Given the description of an element on the screen output the (x, y) to click on. 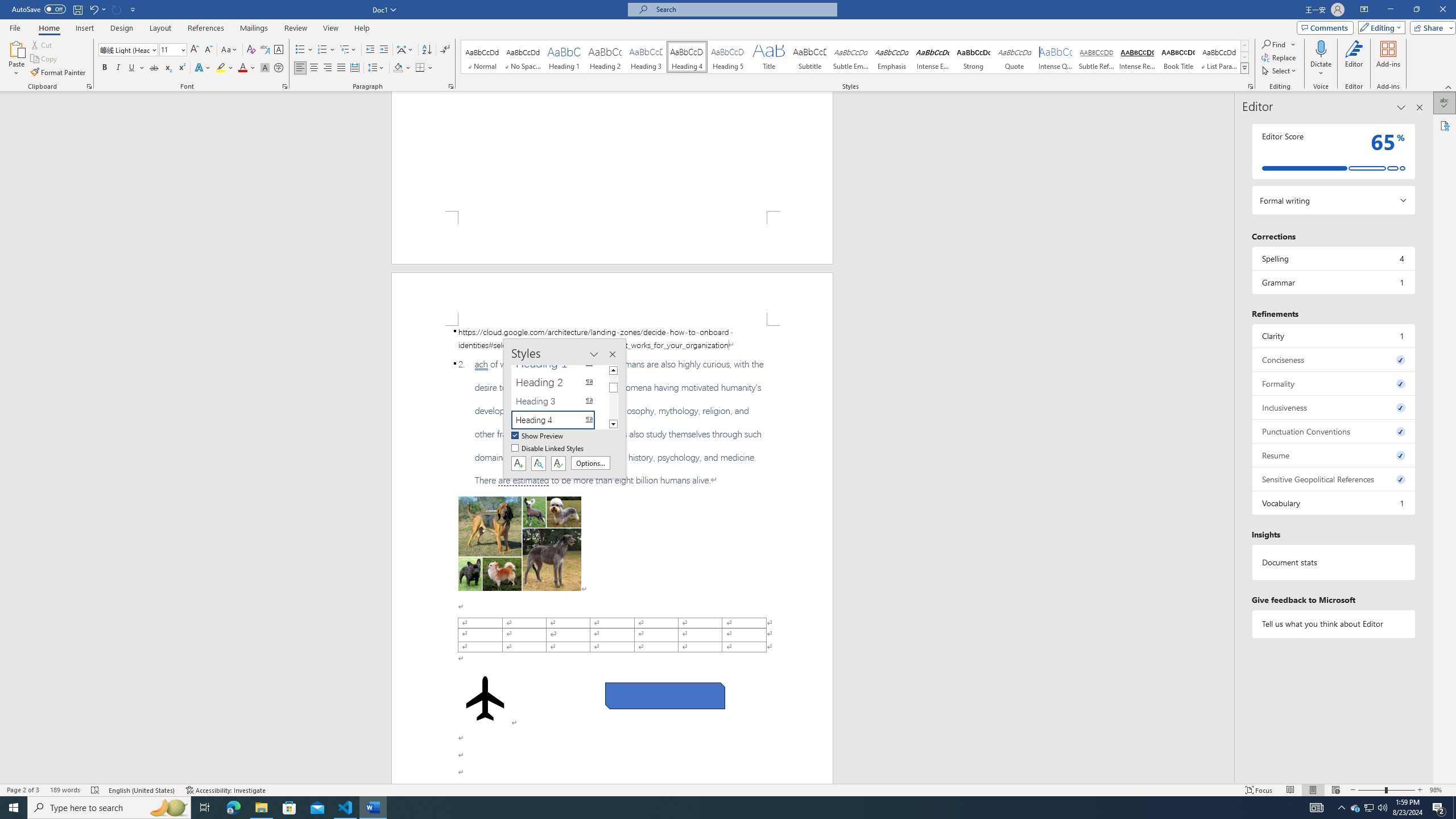
Subtle Emphasis (849, 56)
Share (1430, 27)
Styles (1244, 67)
Page 1 content (611, 151)
Quick Access Toolbar (74, 9)
Line and Paragraph Spacing (376, 67)
Borders (424, 67)
Clarity, 1 issue. Press space or enter to review items. (1333, 335)
Accessibility (1444, 125)
Collapse the Ribbon (1448, 86)
Tell us what you think about Editor (1333, 624)
